Given the description of an element on the screen output the (x, y) to click on. 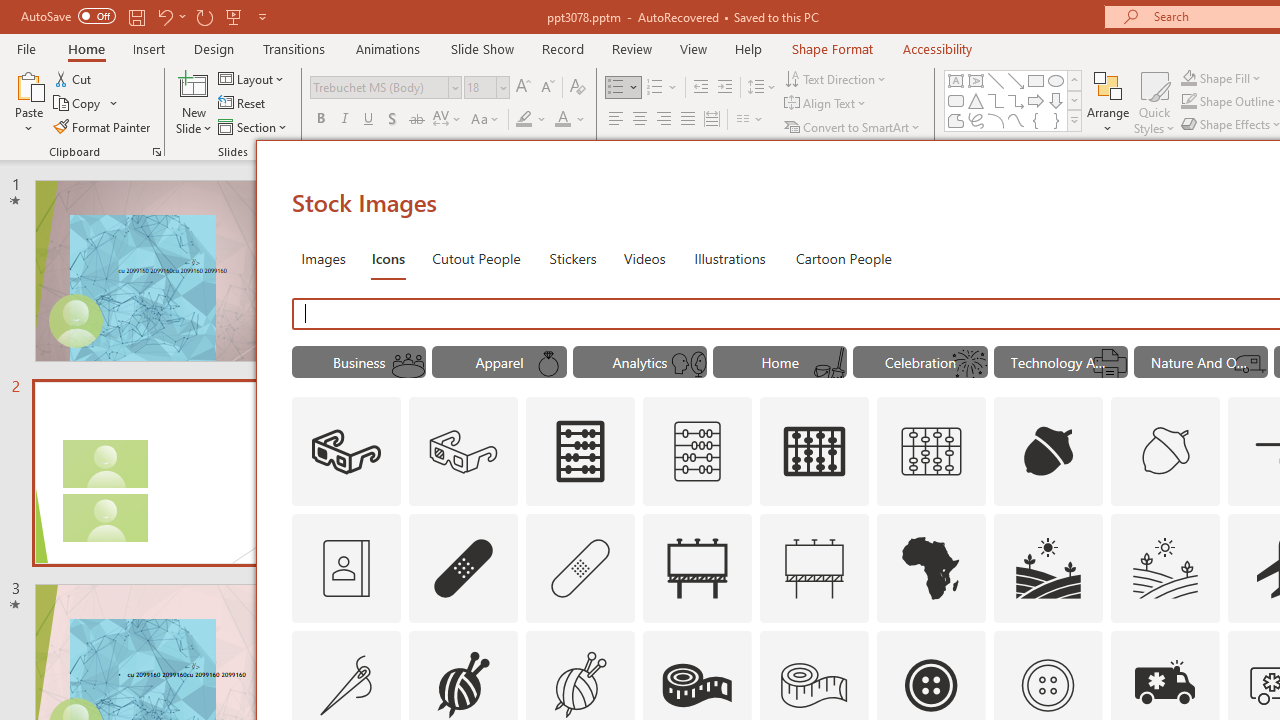
Shadow (392, 119)
Arc (995, 120)
Office Clipboard... (156, 151)
Rectangle: Rounded Corners (955, 100)
Underline (369, 119)
AutomationID: Icons_Agriculture_M (1165, 568)
Text Highlight Color Yellow (524, 119)
Section (254, 126)
AutomationID: Icons_Printer_M (1109, 364)
Freeform: Scribble (975, 120)
